Given the description of an element on the screen output the (x, y) to click on. 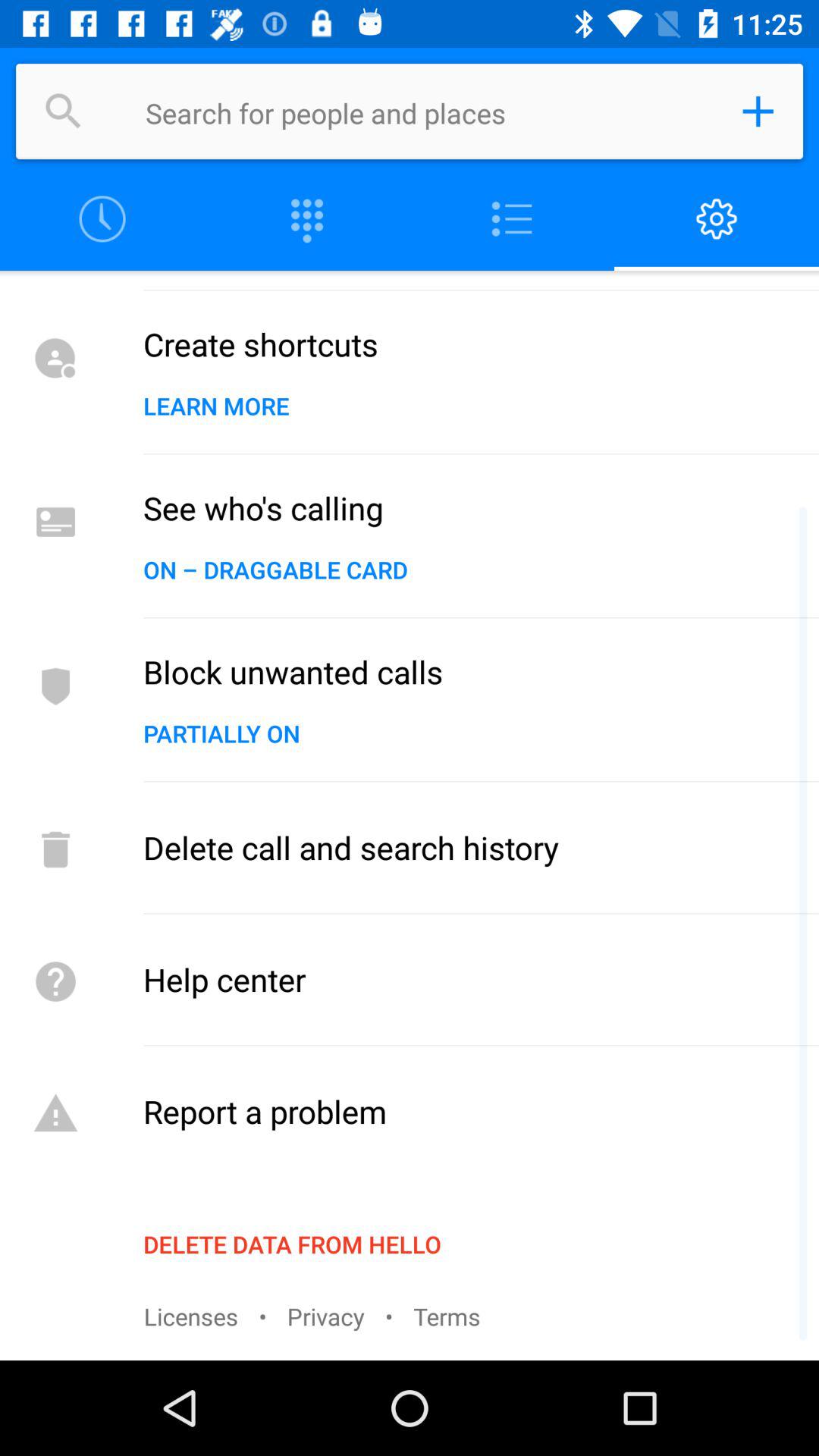
search for people/places (427, 111)
